Given the description of an element on the screen output the (x, y) to click on. 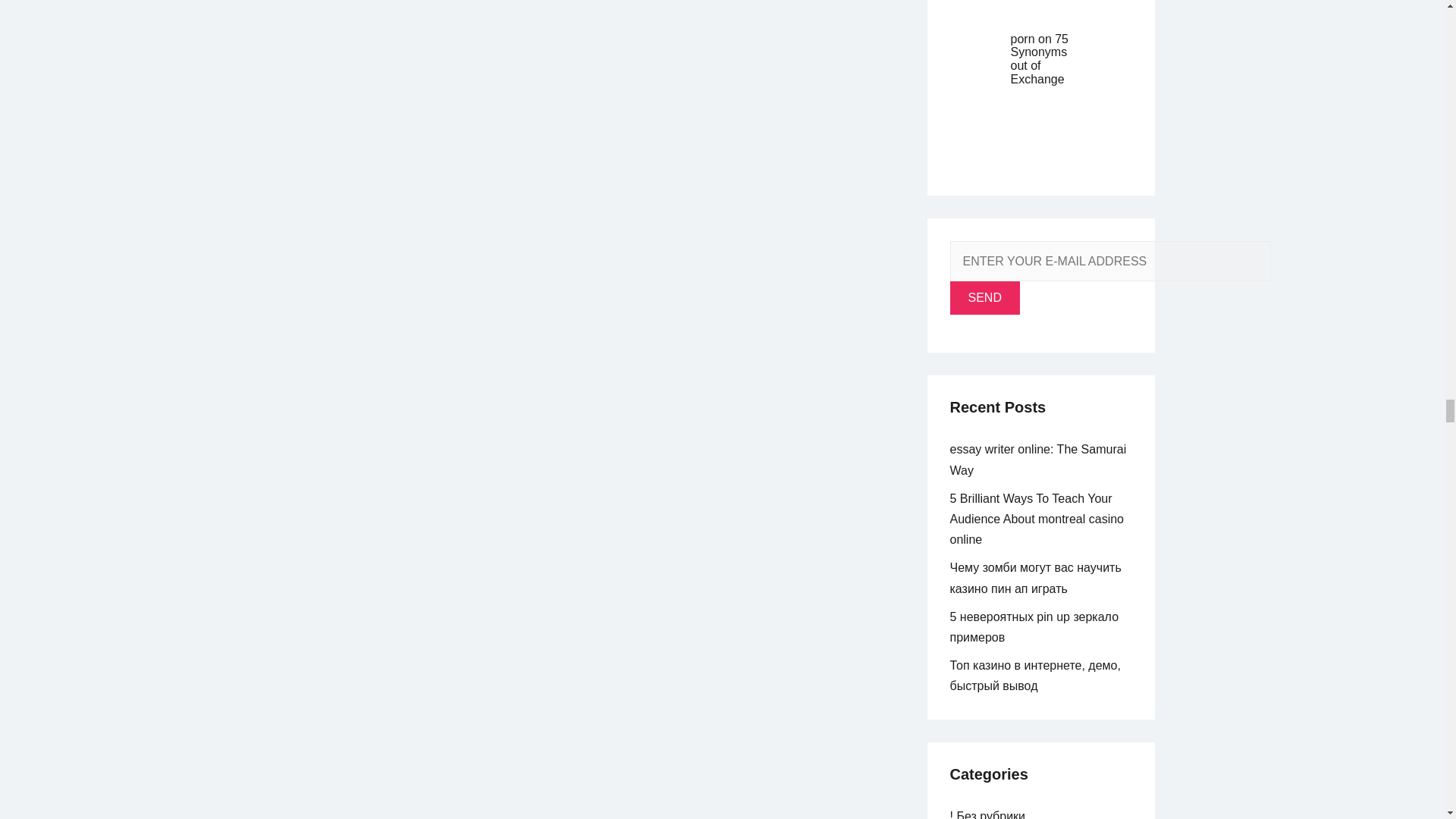
SEND (984, 297)
